Given the description of an element on the screen output the (x, y) to click on. 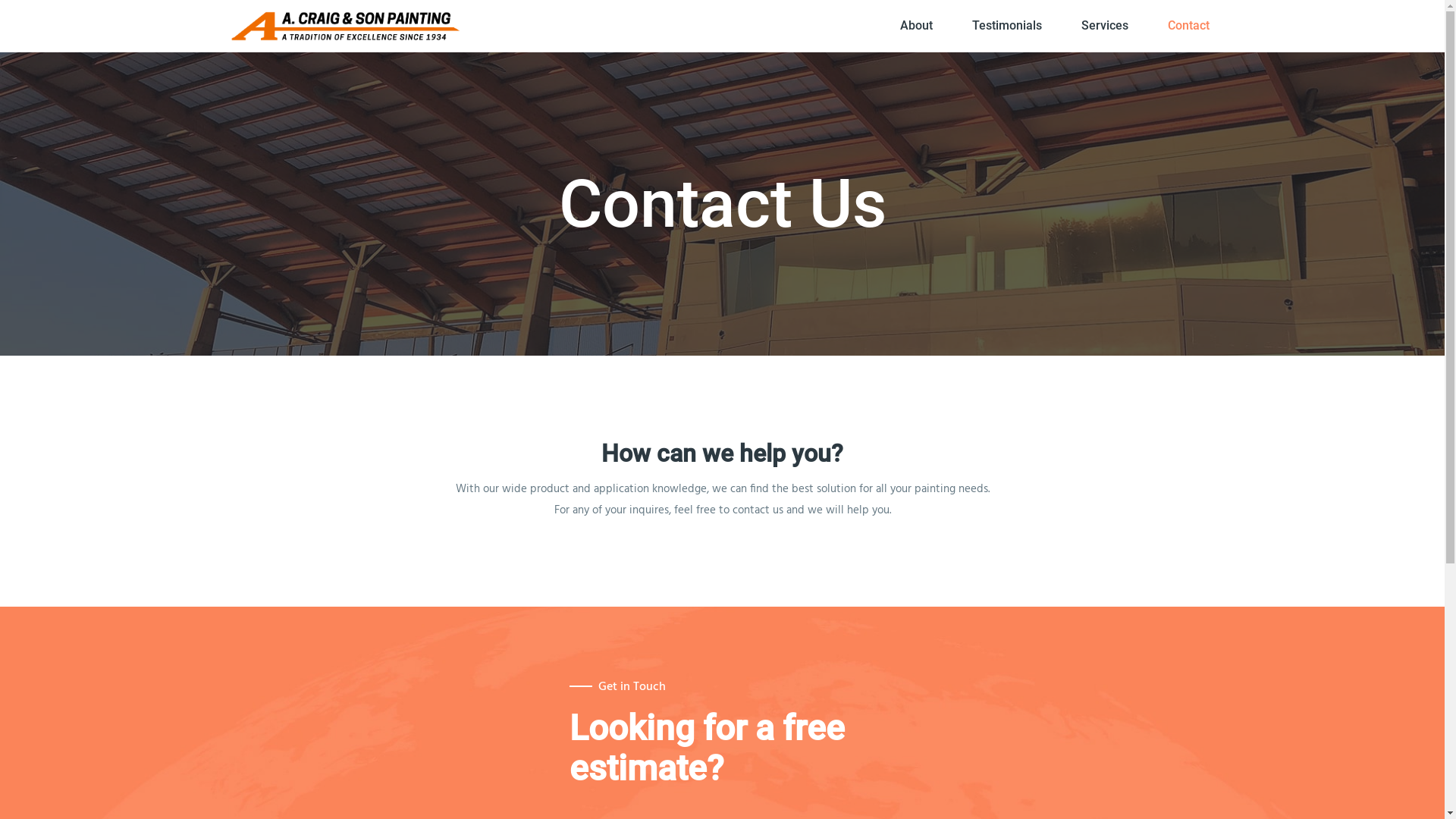
About Element type: text (915, 25)
Testimonials Element type: text (1006, 25)
Services Element type: text (1104, 25)
Contact Element type: text (1188, 25)
